Given the description of an element on the screen output the (x, y) to click on. 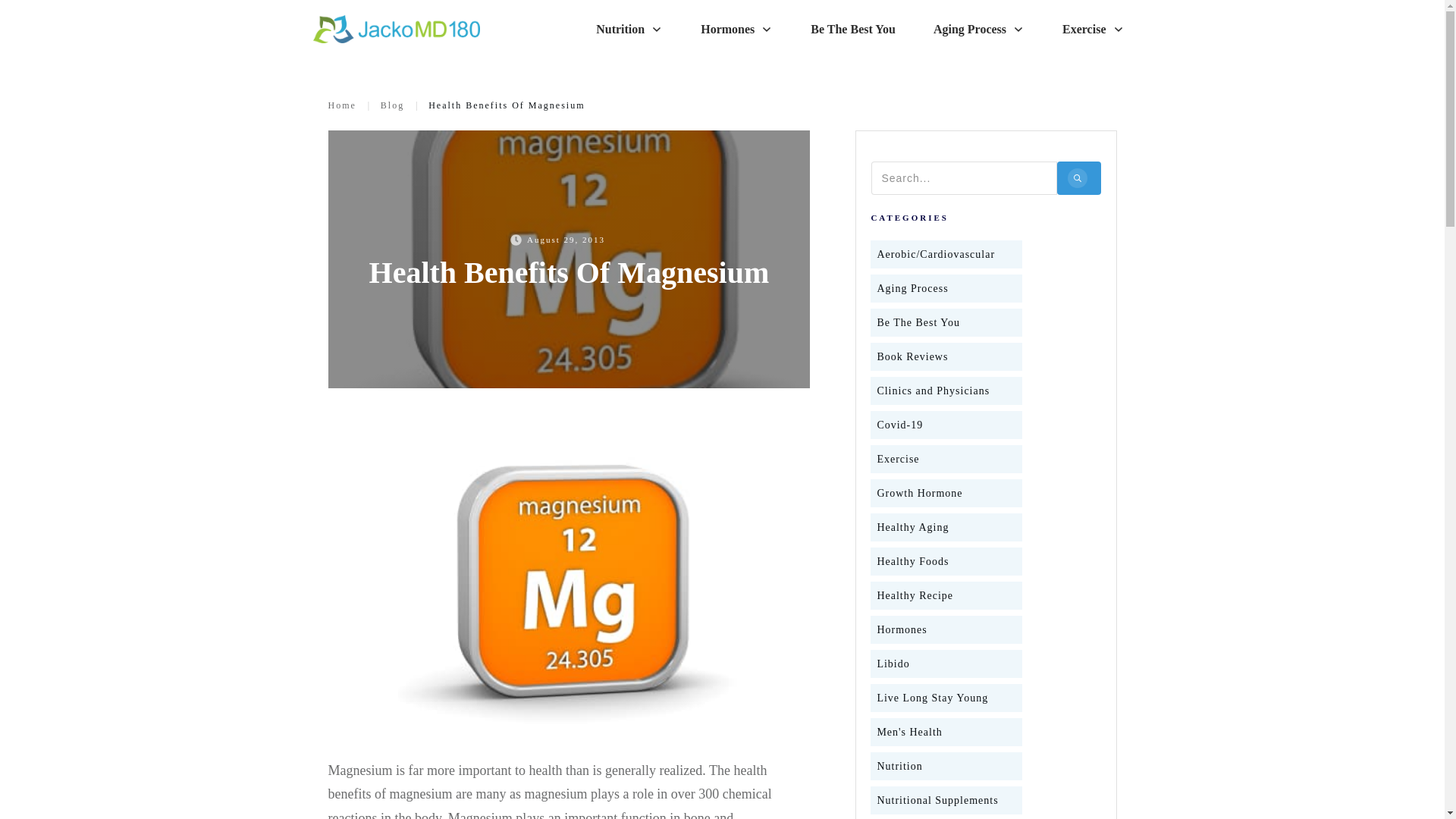
Nutrition (628, 29)
Aging Process (911, 288)
Home (341, 105)
Be The Best You (852, 29)
Exercise (1093, 29)
Aging Process (979, 29)
Blog (392, 105)
Hormones (736, 29)
Be The Best You (917, 322)
